Given the description of an element on the screen output the (x, y) to click on. 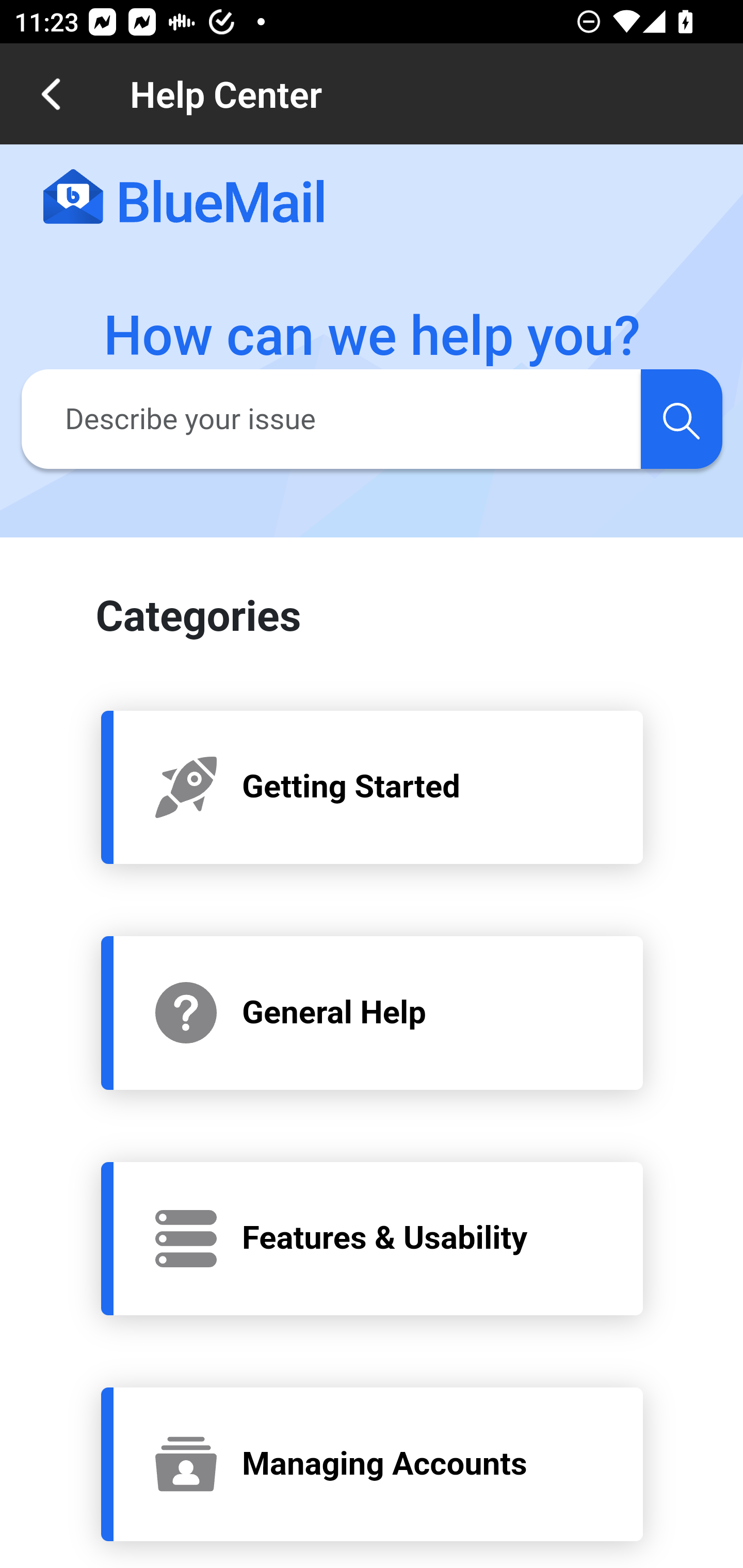
Navigate up (50, 93)
BlueMail Logo (184, 197)
How can we help you? (372, 336)
search (680, 418)
icon Getting Started icon Getting Started (372, 785)
icon General Help icon General Help (372, 1011)
icon Managing Accounts icon Managing Accounts (372, 1463)
